Given the description of an element on the screen output the (x, y) to click on. 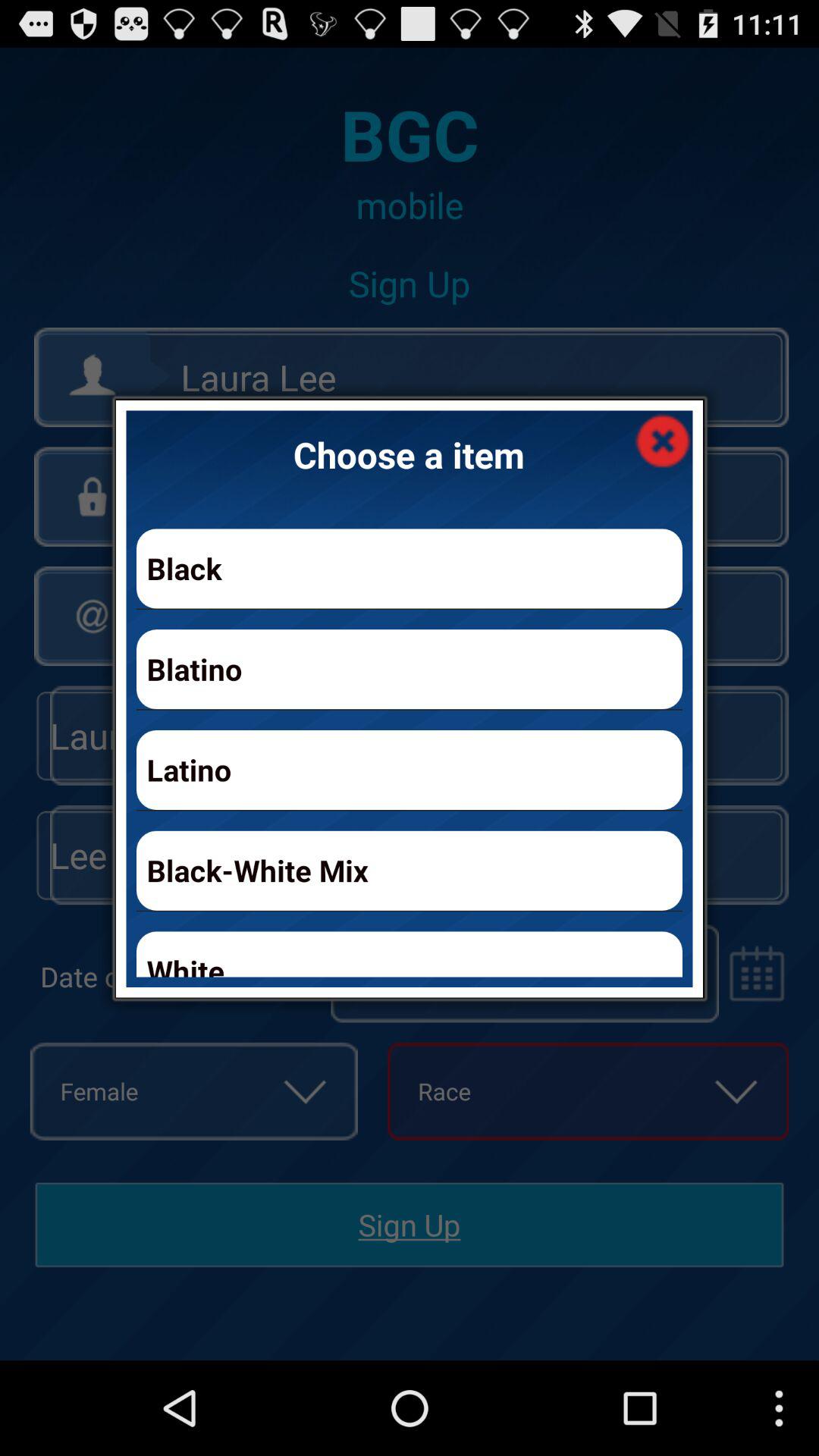
click item below the blatino icon (409, 769)
